Given the description of an element on the screen output the (x, y) to click on. 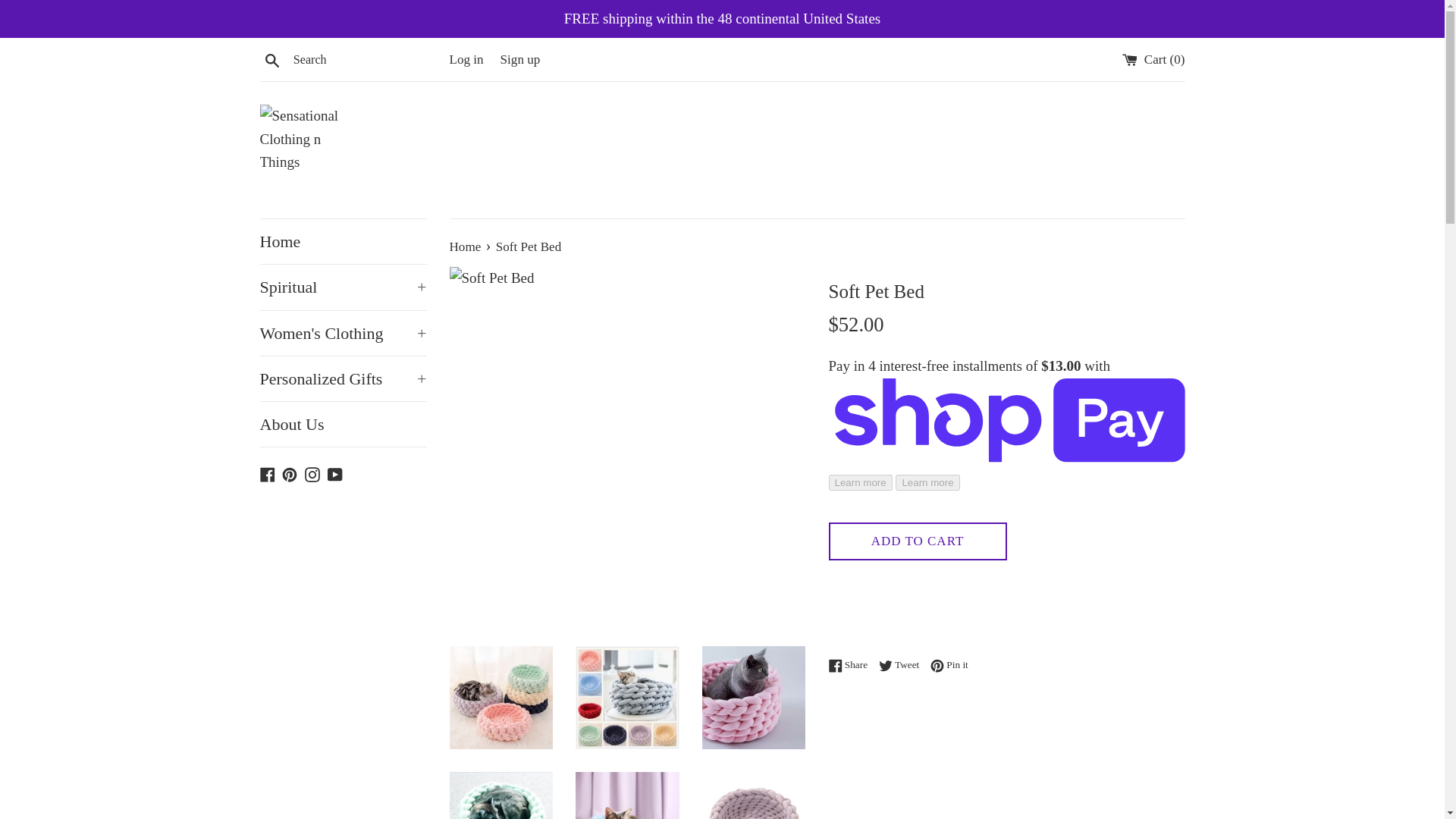
Sensational Clothing n Things on Pinterest (289, 472)
Share on Facebook (851, 664)
Sign up (520, 59)
Log in (465, 59)
Pin on Pinterest (949, 664)
Sensational Clothing n Things on Instagram (312, 472)
Back to the frontpage (465, 246)
Home (342, 241)
Sensational Clothing n Things on YouTube (334, 472)
Search (271, 58)
